Given the description of an element on the screen output the (x, y) to click on. 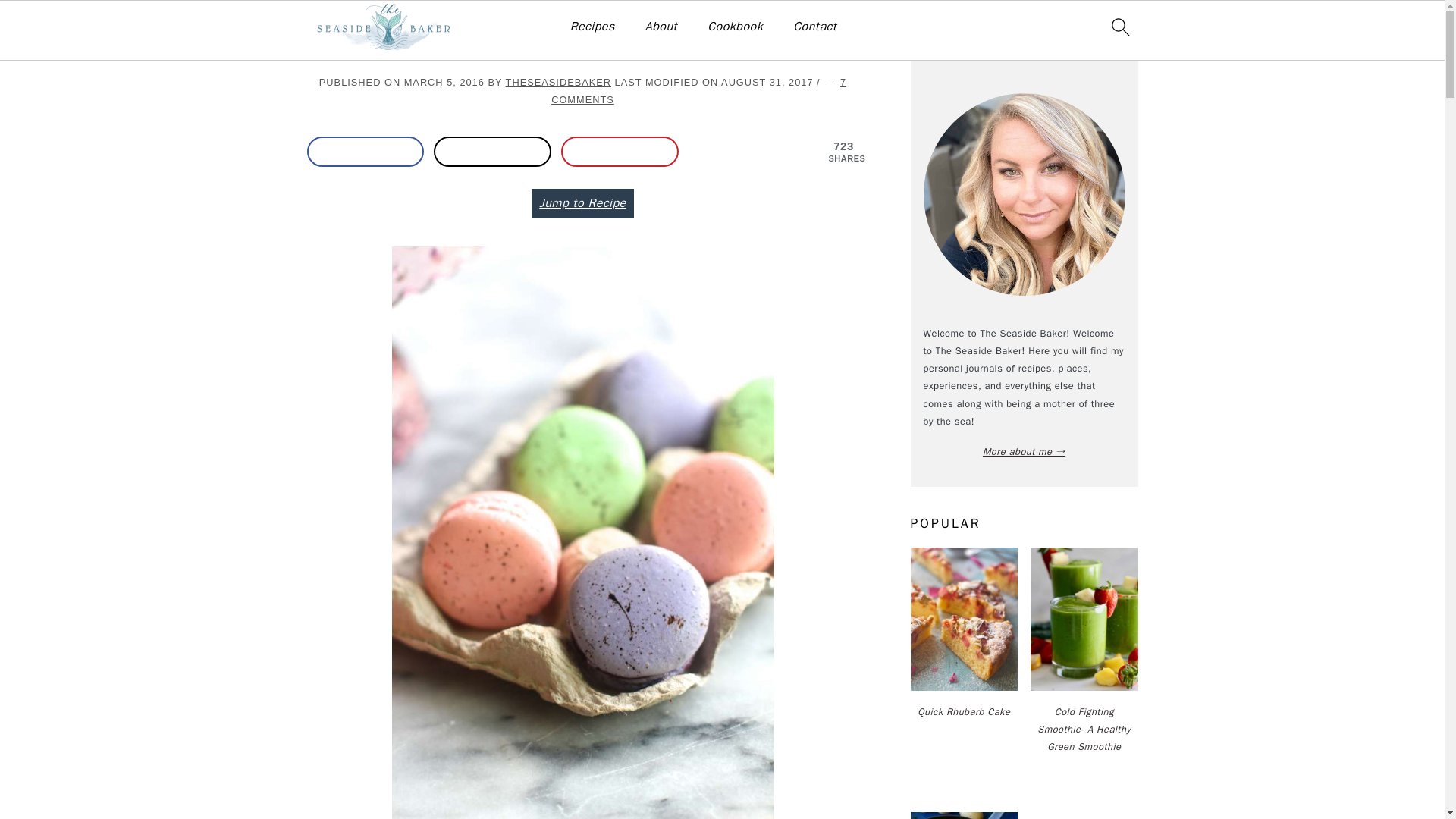
Recipes (592, 26)
Share on Facebook (364, 151)
search icon (1119, 26)
Sweets (408, 23)
Recipes (361, 23)
About (661, 26)
Home (319, 23)
Save to Pinterest (619, 151)
Cookbook (734, 26)
